Given the description of an element on the screen output the (x, y) to click on. 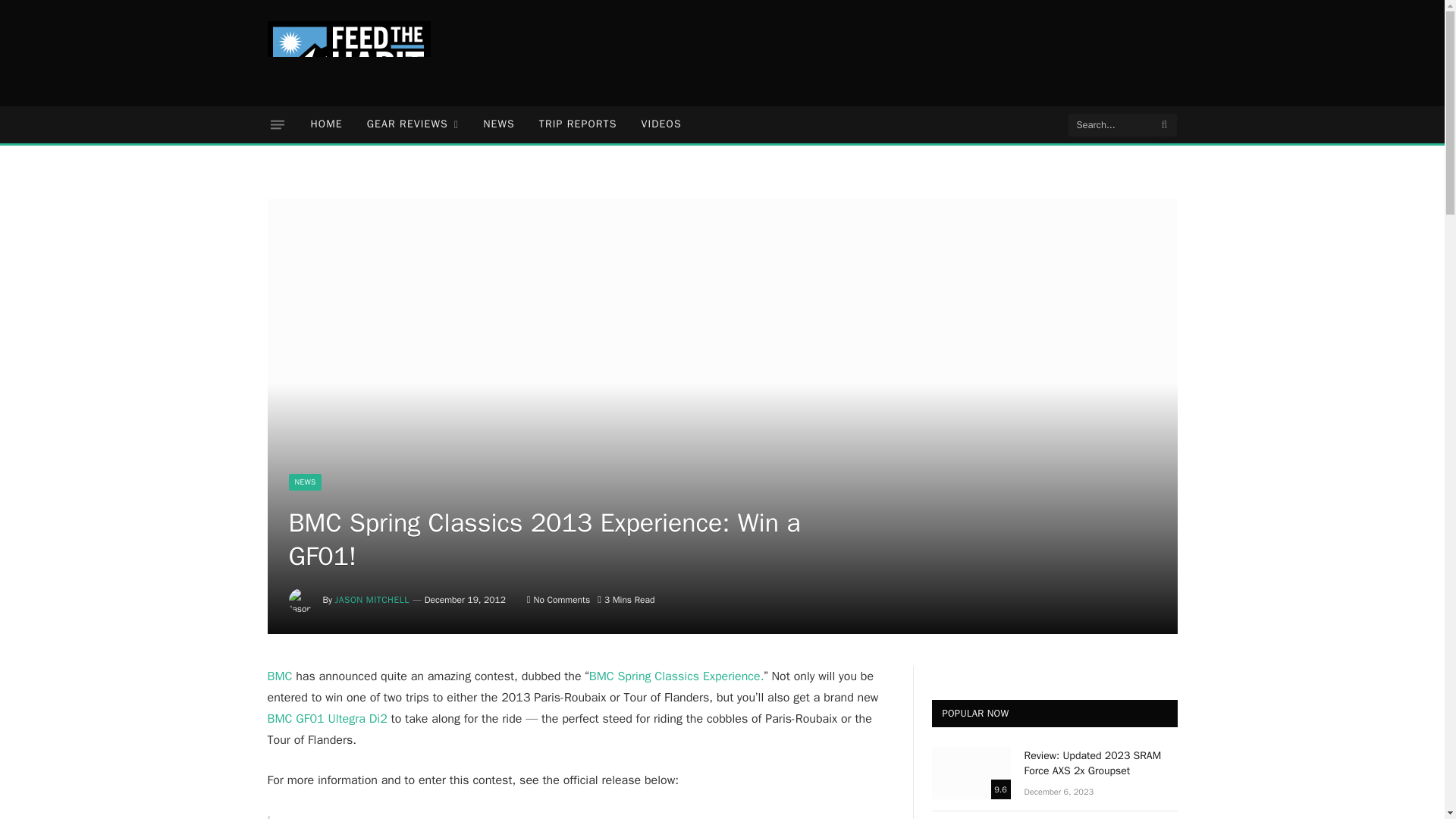
NEWS (304, 482)
BMC (279, 676)
Posts by Jason Mitchell (371, 599)
BMC Spring Classics Experience. (676, 676)
FeedTheHabit.com (347, 53)
BMC GF01 Ultegra Di2 (326, 718)
No Comments (558, 599)
NEWS (498, 124)
GEAR REVIEWS (412, 124)
